Given the description of an element on the screen output the (x, y) to click on. 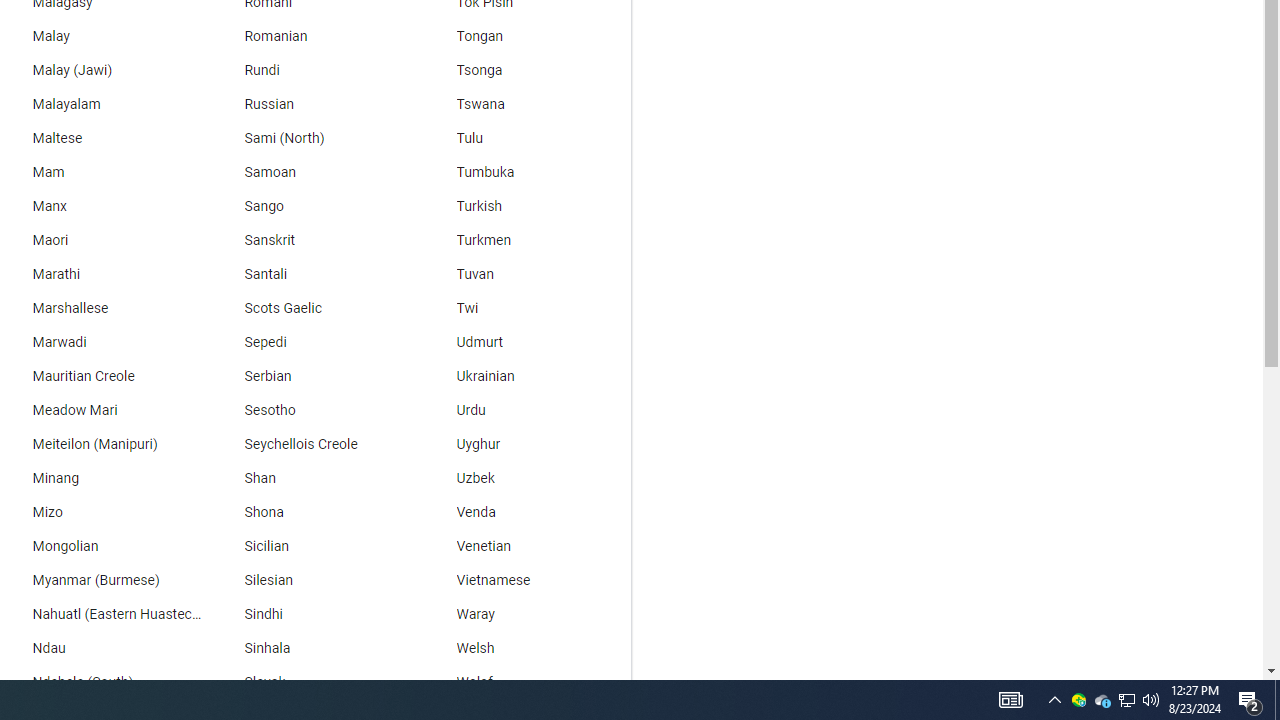
Turkmen (525, 240)
Turkish (525, 206)
Uzbek (525, 478)
Ukrainian (525, 376)
Udmurt (525, 342)
Sicilian (312, 547)
Tswana (525, 104)
Urdu (525, 410)
Tumbuka (525, 172)
Silesian (312, 580)
Sinhala (312, 648)
Venda (525, 512)
Twi (525, 308)
Sesotho (312, 410)
Wolof (525, 682)
